Given the description of an element on the screen output the (x, y) to click on. 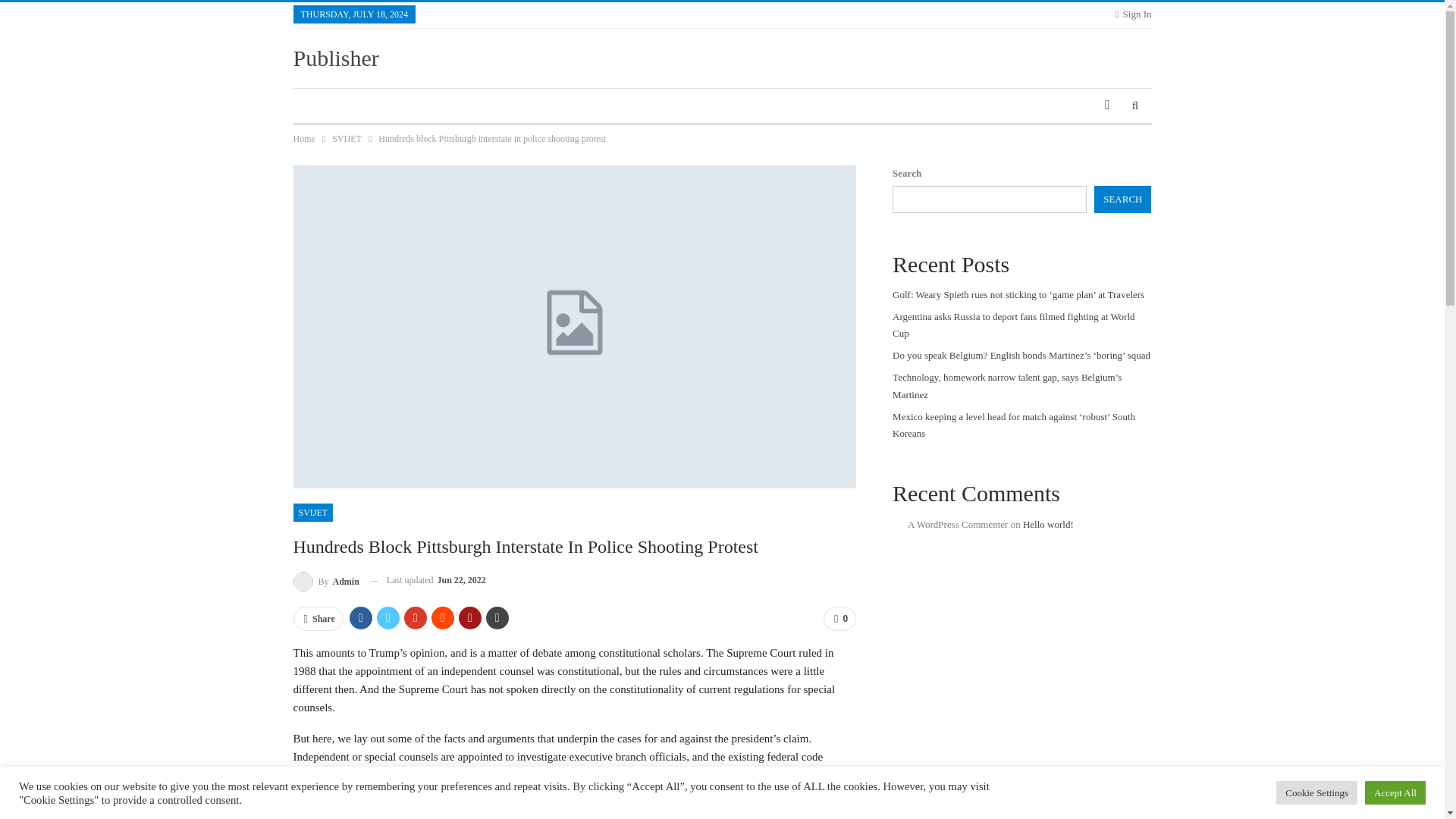
SVIJET (346, 138)
By Admin (325, 580)
Home (303, 138)
Sign In (1133, 13)
Publisher (335, 57)
SVIJET (312, 512)
Browse Author Articles (325, 580)
0 (840, 618)
